Given the description of an element on the screen output the (x, y) to click on. 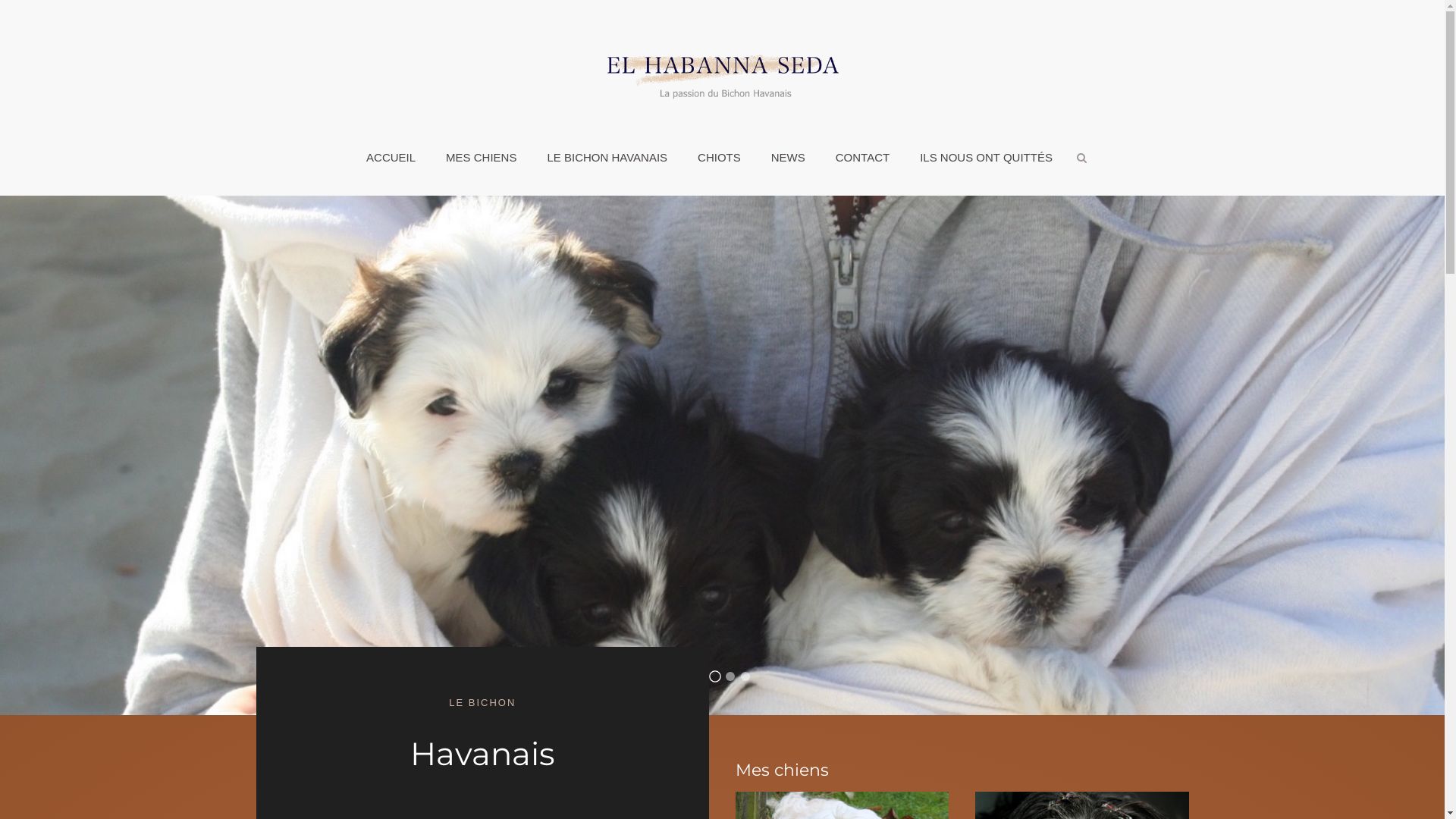
MES CHIENS Element type: text (480, 157)
Dans les bras Element type: text (713, 674)
CHIOTS Element type: text (719, 157)
CONTACT Element type: text (862, 157)
ACCUEIL Element type: text (390, 157)
File plage Element type: text (744, 675)
LE BICHON HAVANAIS Element type: text (606, 157)
NEWS Element type: text (788, 157)
Course plage Element type: text (729, 675)
